Given the description of an element on the screen output the (x, y) to click on. 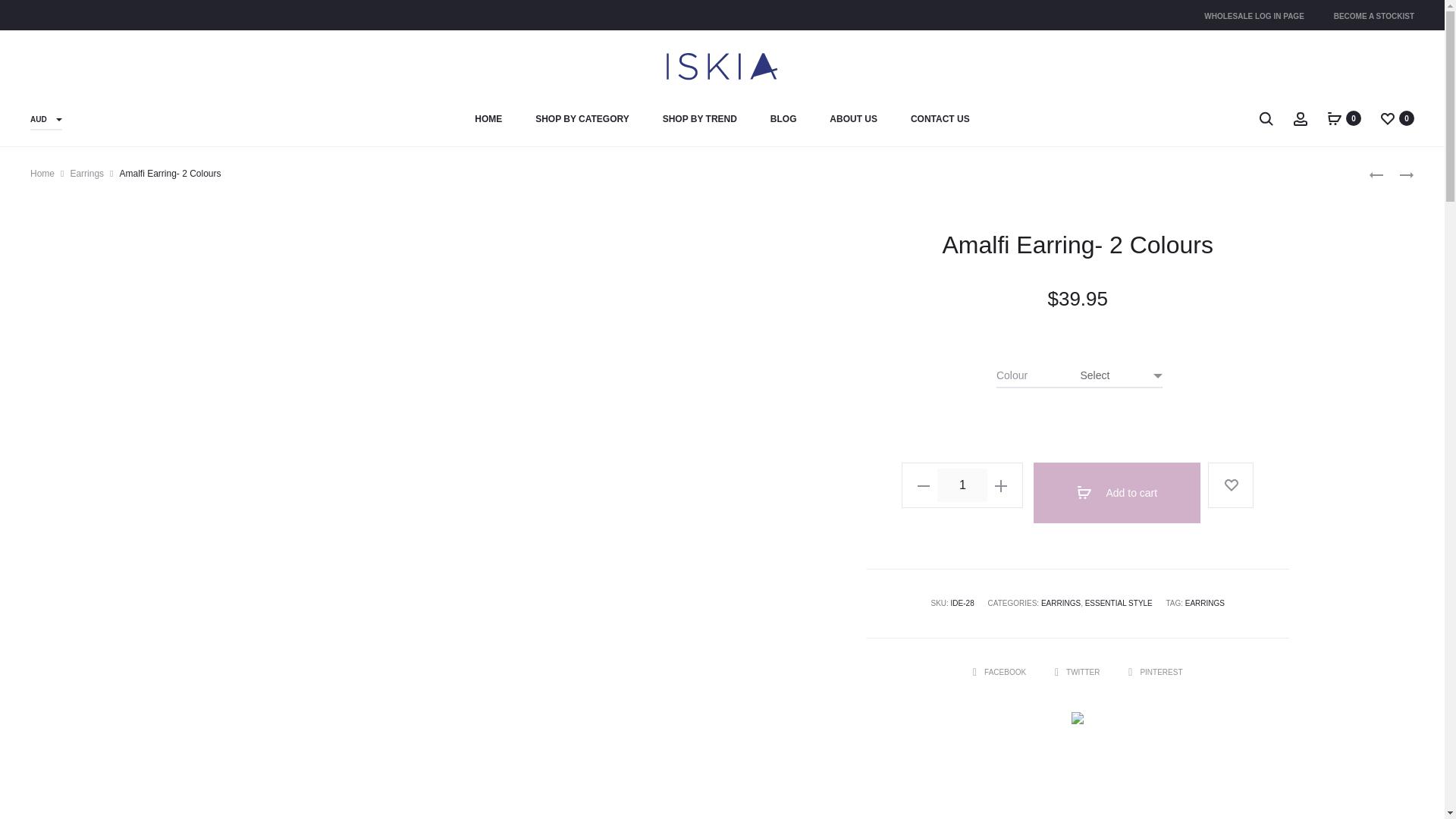
Add to wishlist (1230, 484)
Qty (962, 485)
Add to cart (1116, 492)
ESSENTIAL STYLE (1118, 602)
CRACKLING EARRING (1398, 173)
Earrings (86, 173)
BECOME A STOCKIST (1373, 16)
SHOP BY CATEGORY (581, 119)
EARRINGS (1060, 602)
Home (42, 173)
